Given the description of an element on the screen output the (x, y) to click on. 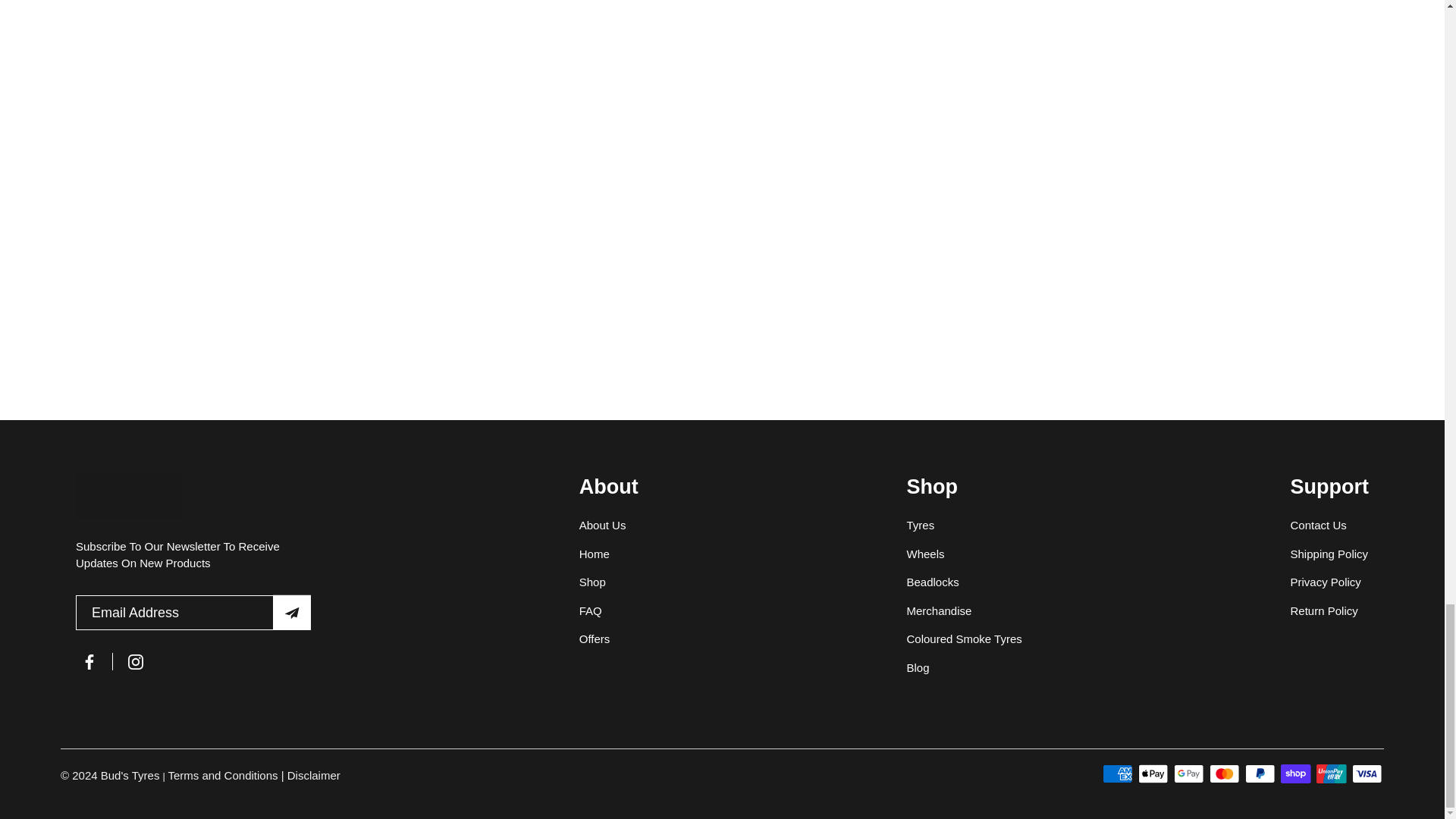
Google Pay (1188, 773)
Shop Pay (1295, 773)
Apple Pay (1152, 773)
American Express (1117, 773)
Instagram (135, 661)
Mastercard (1224, 773)
Union Pay (1331, 773)
PayPal (1259, 773)
Visa (1366, 773)
